Given the description of an element on the screen output the (x, y) to click on. 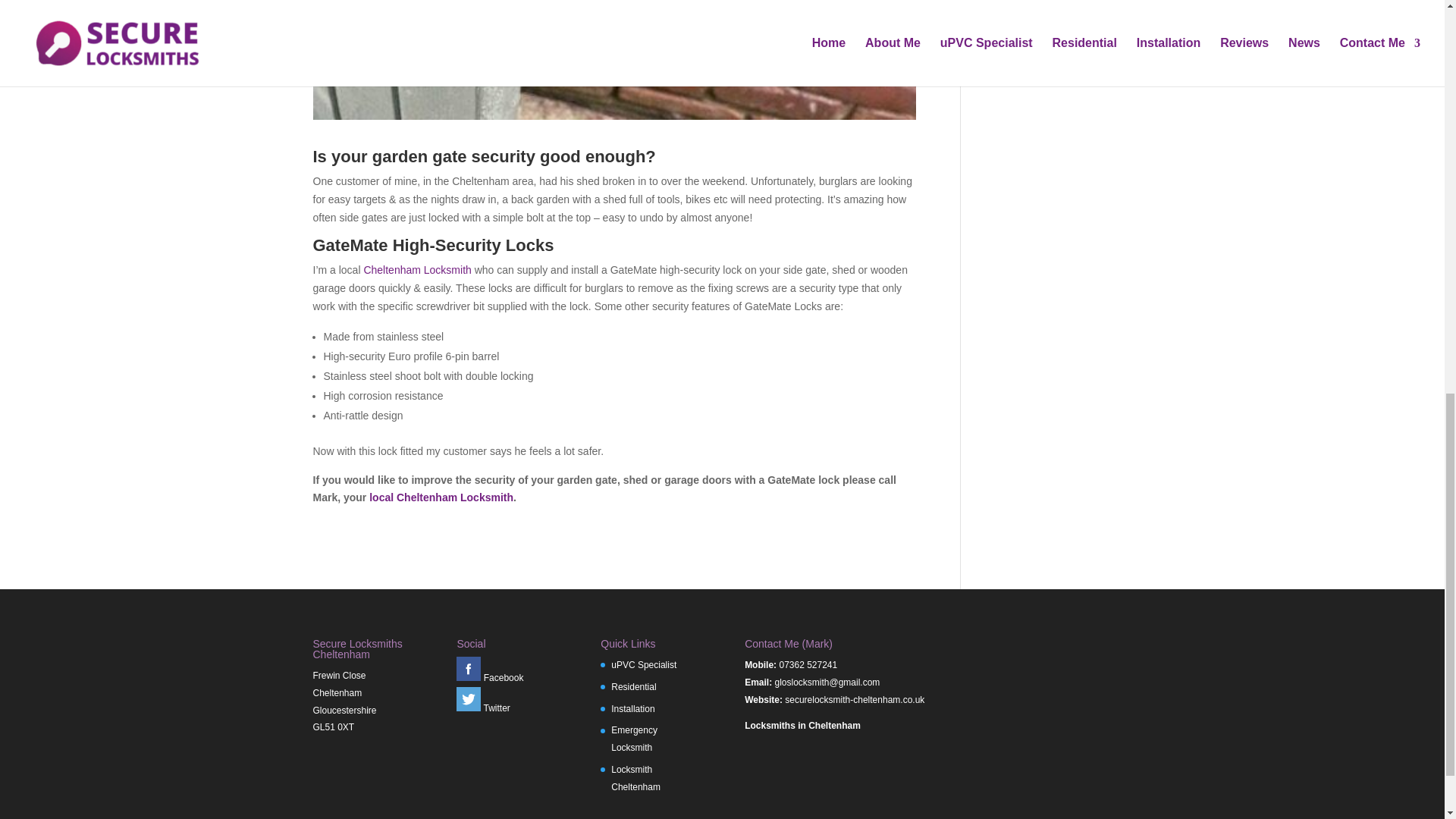
local Cheltenham Locksmith (441, 497)
Residential Locksmith Cheltenham (633, 686)
Locksmith Cheltenham (636, 778)
New Locks Cheltenham (632, 708)
Cheltenham Locksmith (416, 269)
uPVC Lock Repairs Cheltenham (644, 665)
Emergency Locksmith Cheltenham (634, 738)
